Given the description of an element on the screen output the (x, y) to click on. 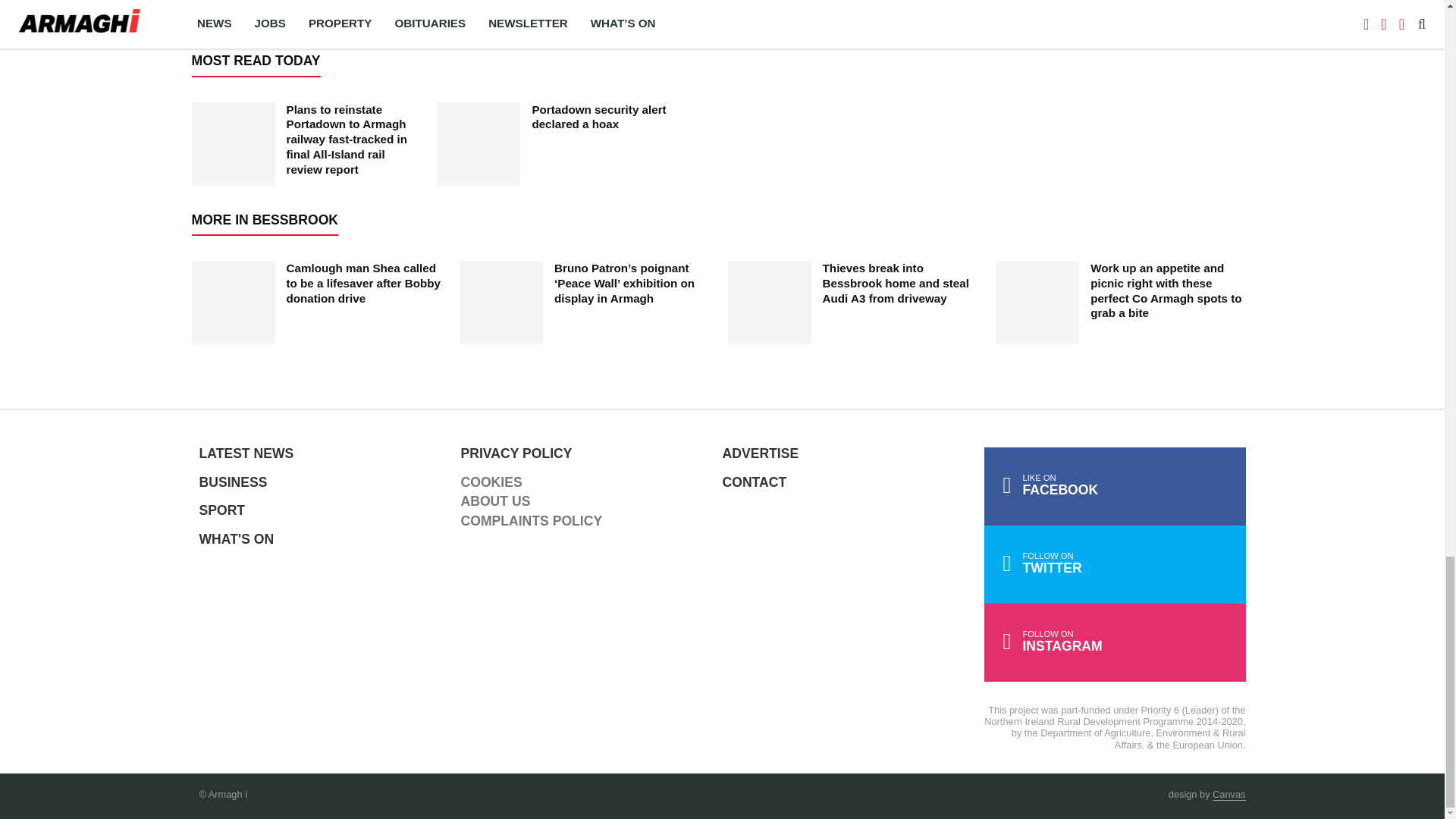
Facebook (1115, 486)
Instagram (1115, 642)
Twitter (1115, 564)
